Given the description of an element on the screen output the (x, y) to click on. 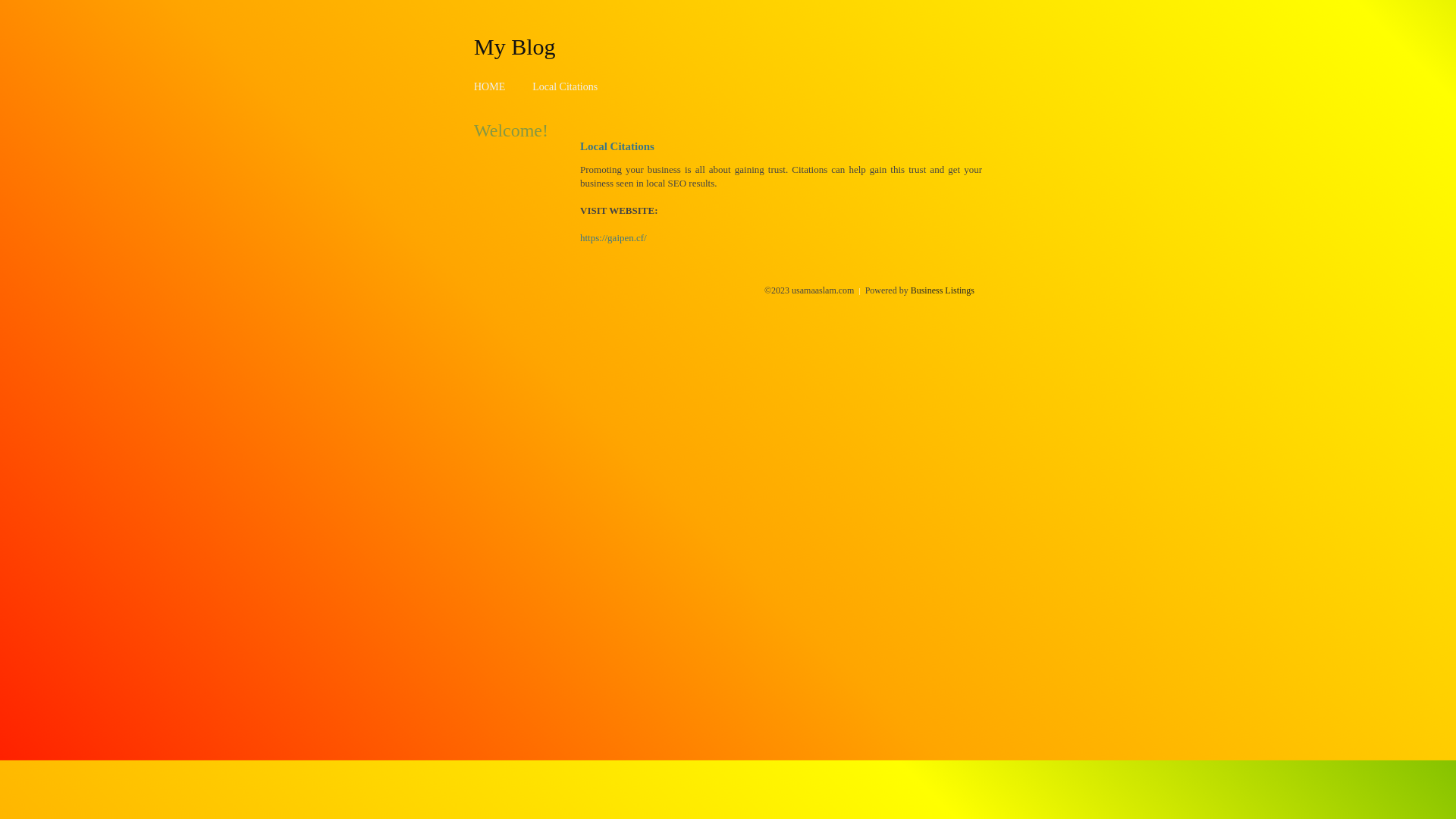
My Blog Element type: text (514, 46)
Business Listings Element type: text (942, 290)
Local Citations Element type: text (564, 86)
HOME Element type: text (489, 86)
https://gaipen.cf/ Element type: text (613, 237)
